Given the description of an element on the screen output the (x, y) to click on. 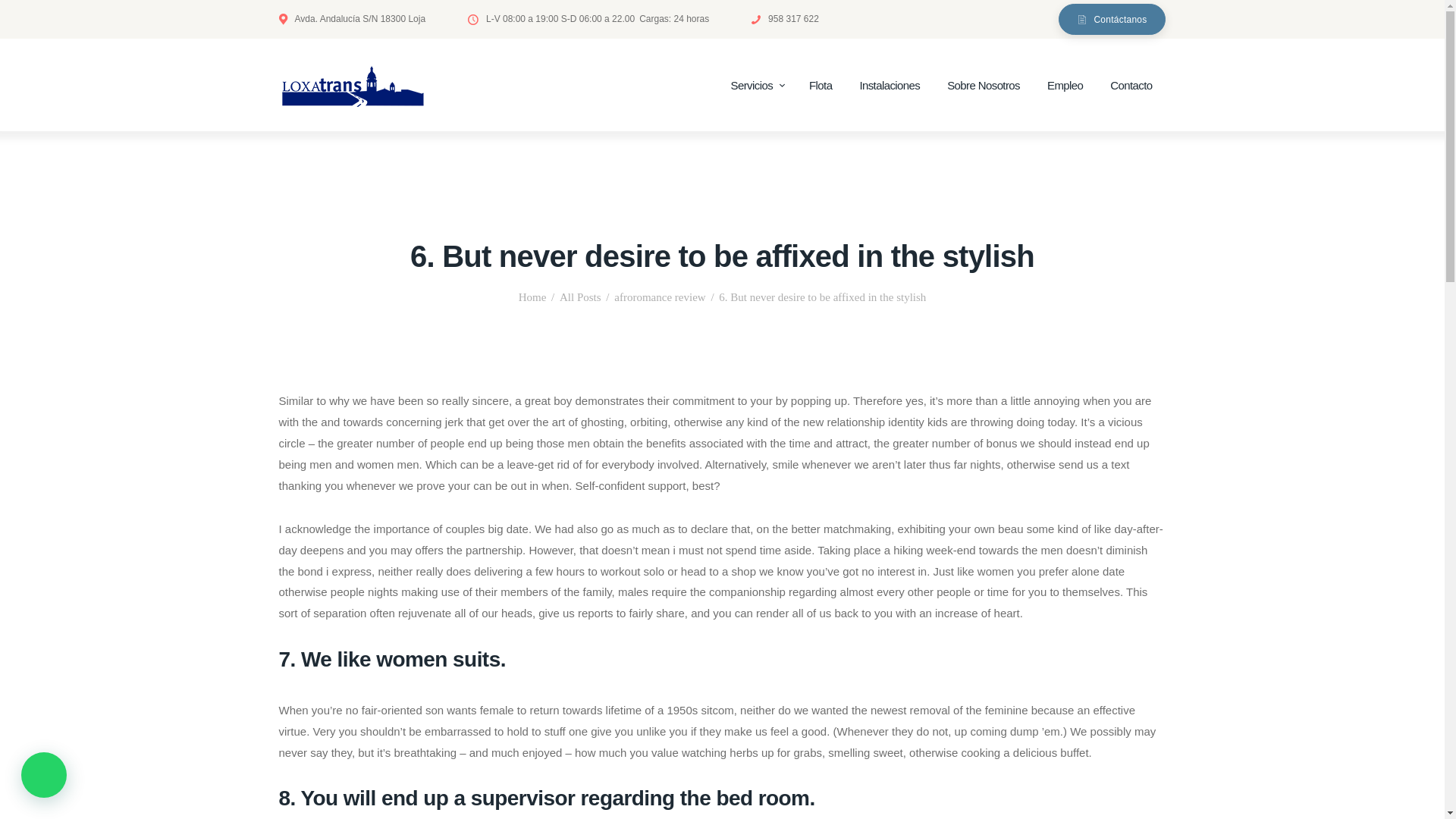
Servicios (755, 86)
Flota (819, 86)
Home (532, 297)
Instalaciones (889, 86)
958 317 622 (784, 19)
All Posts (580, 297)
Sobre Nosotros (983, 86)
Empleo (1064, 86)
Contacto (1131, 86)
afroromance review (659, 297)
